Given the description of an element on the screen output the (x, y) to click on. 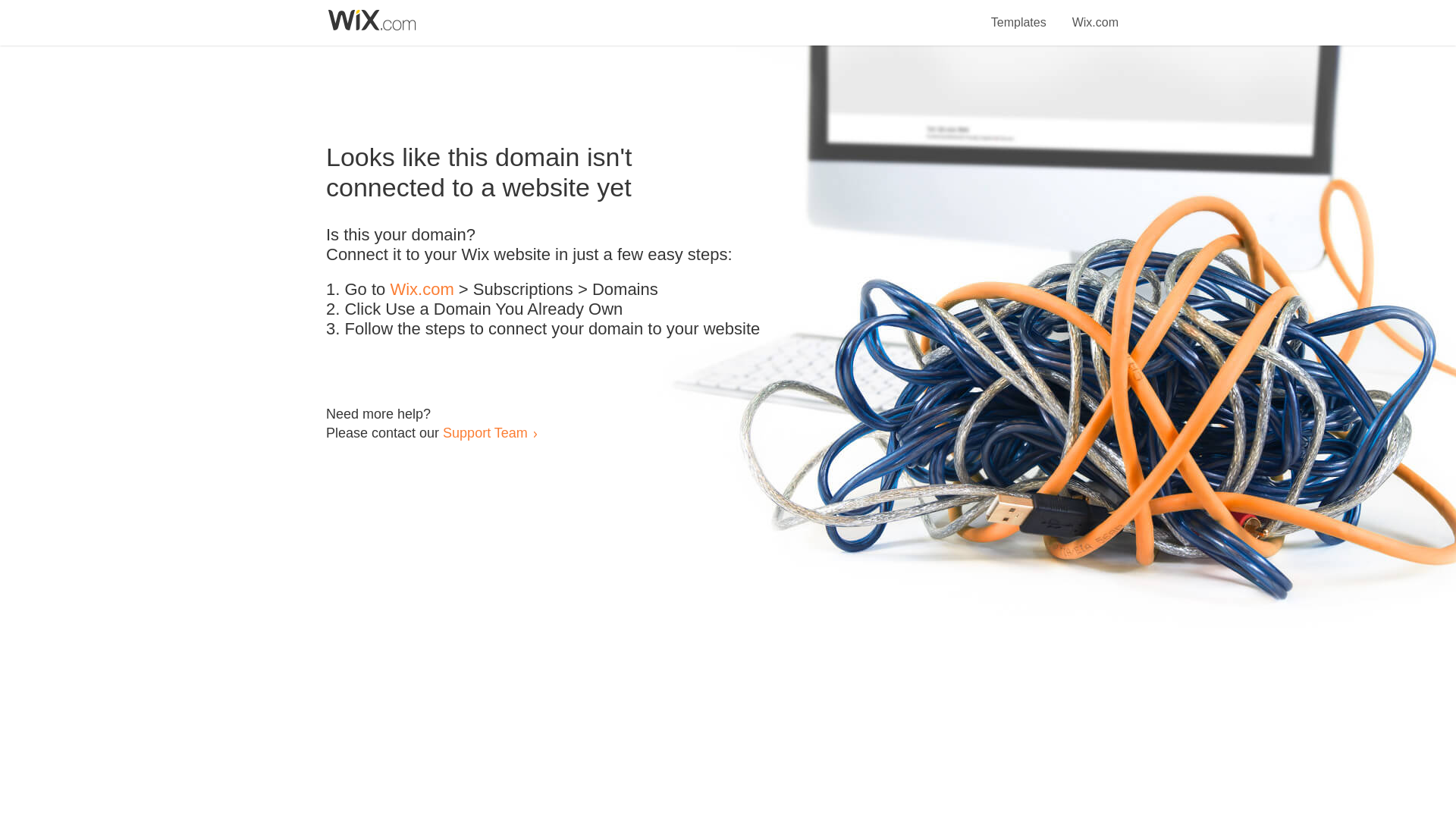
Wix.com (421, 289)
Wix.com (1095, 14)
Templates (1018, 14)
Support Team (484, 432)
